Given the description of an element on the screen output the (x, y) to click on. 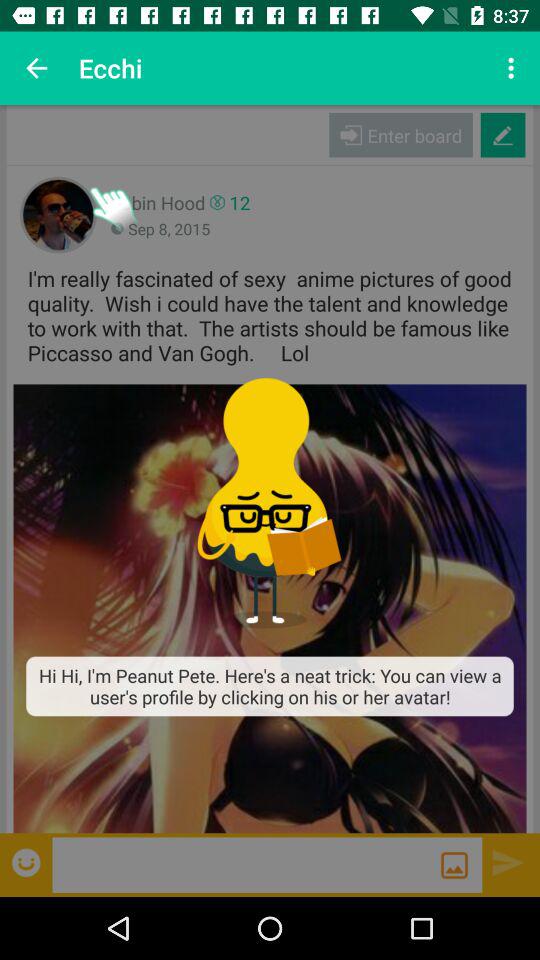
view profile (269, 608)
